Given the description of an element on the screen output the (x, y) to click on. 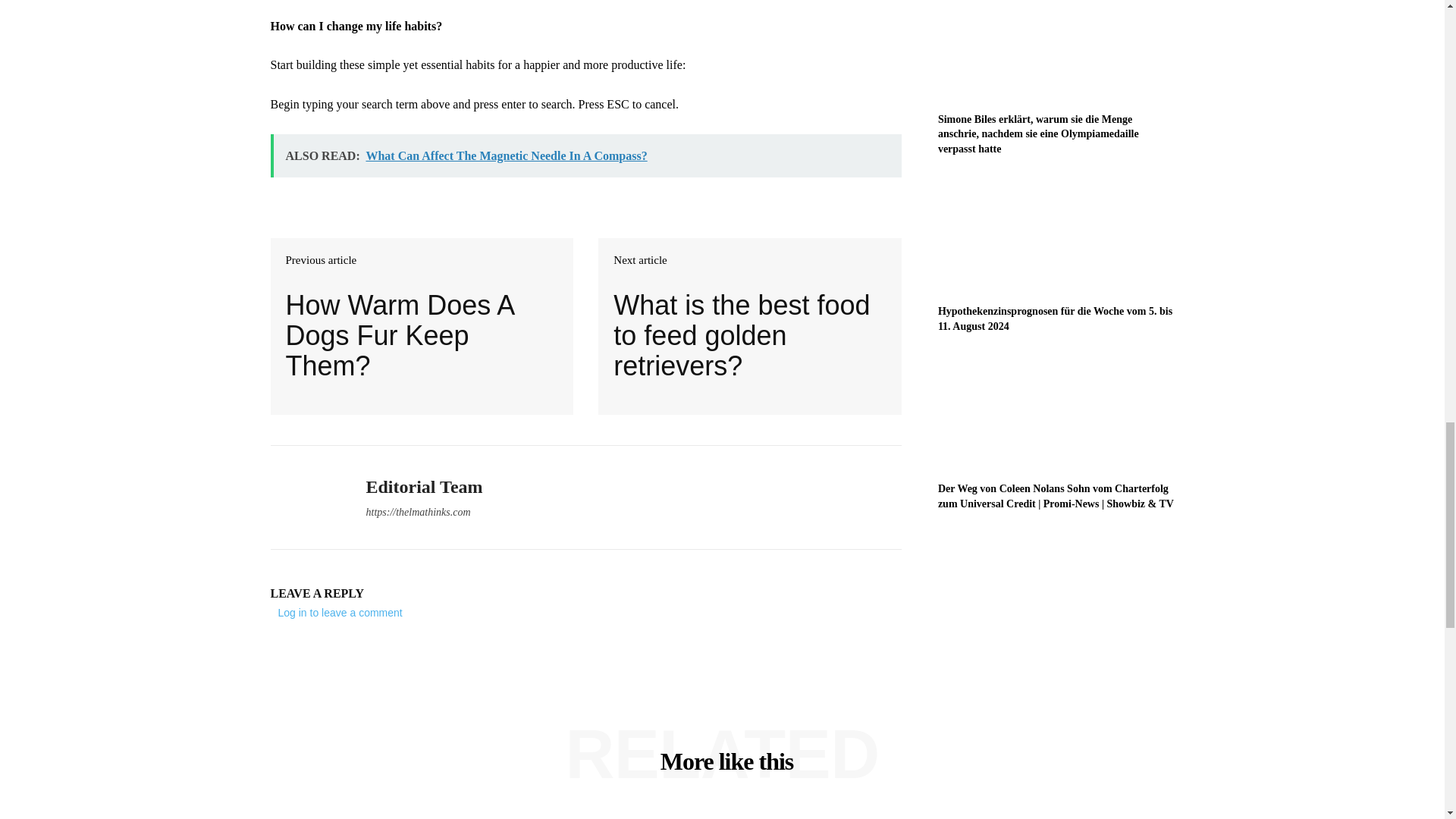
Log in to leave a comment (339, 612)
Editorial Team (305, 497)
What is the best food to feed golden retrievers? (749, 335)
Editorial Team (423, 486)
How Warm Does A Dogs Fur Keep Them? (421, 335)
